Given the description of an element on the screen output the (x, y) to click on. 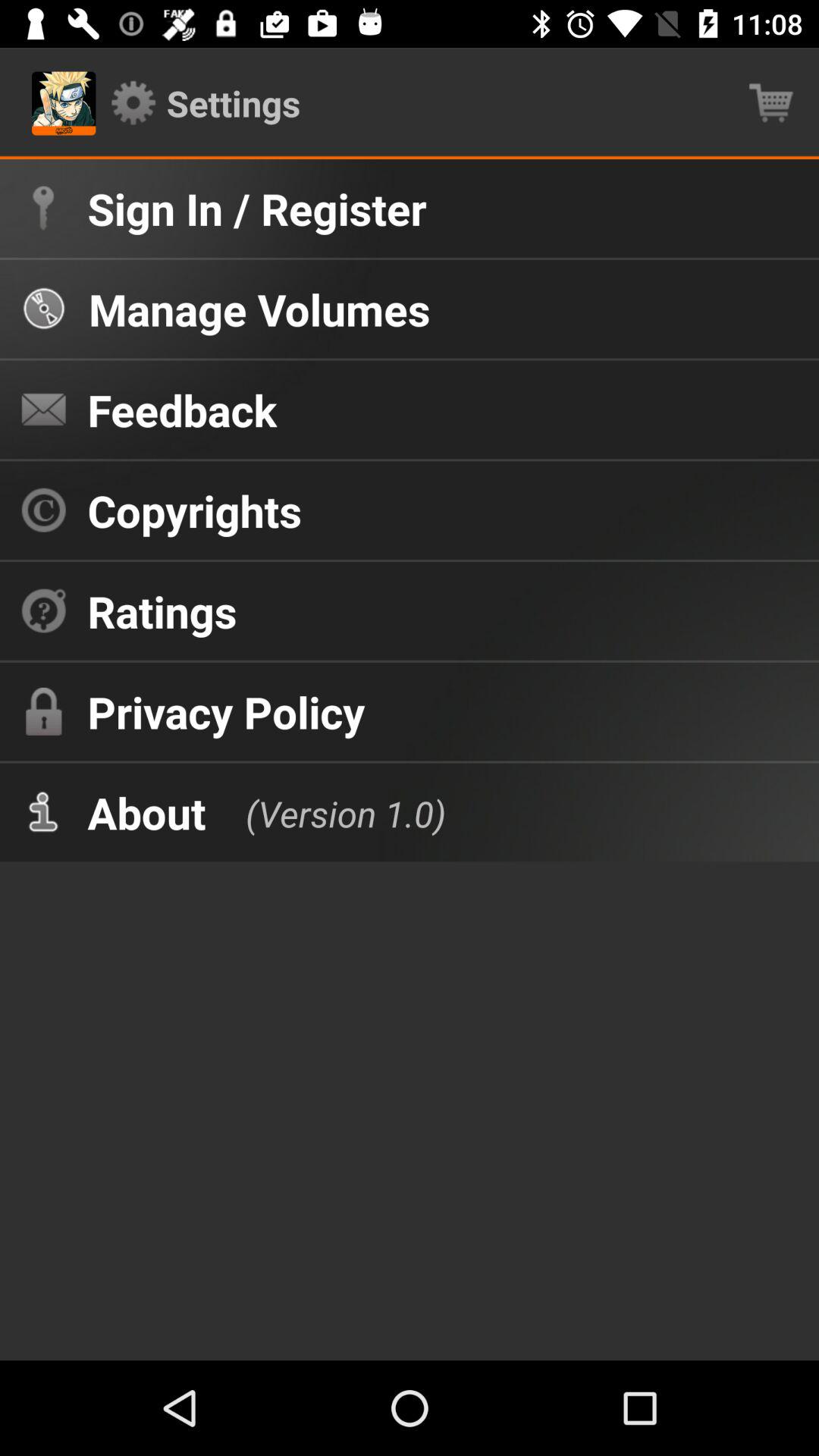
press the icon below copyrights item (162, 610)
